Given the description of an element on the screen output the (x, y) to click on. 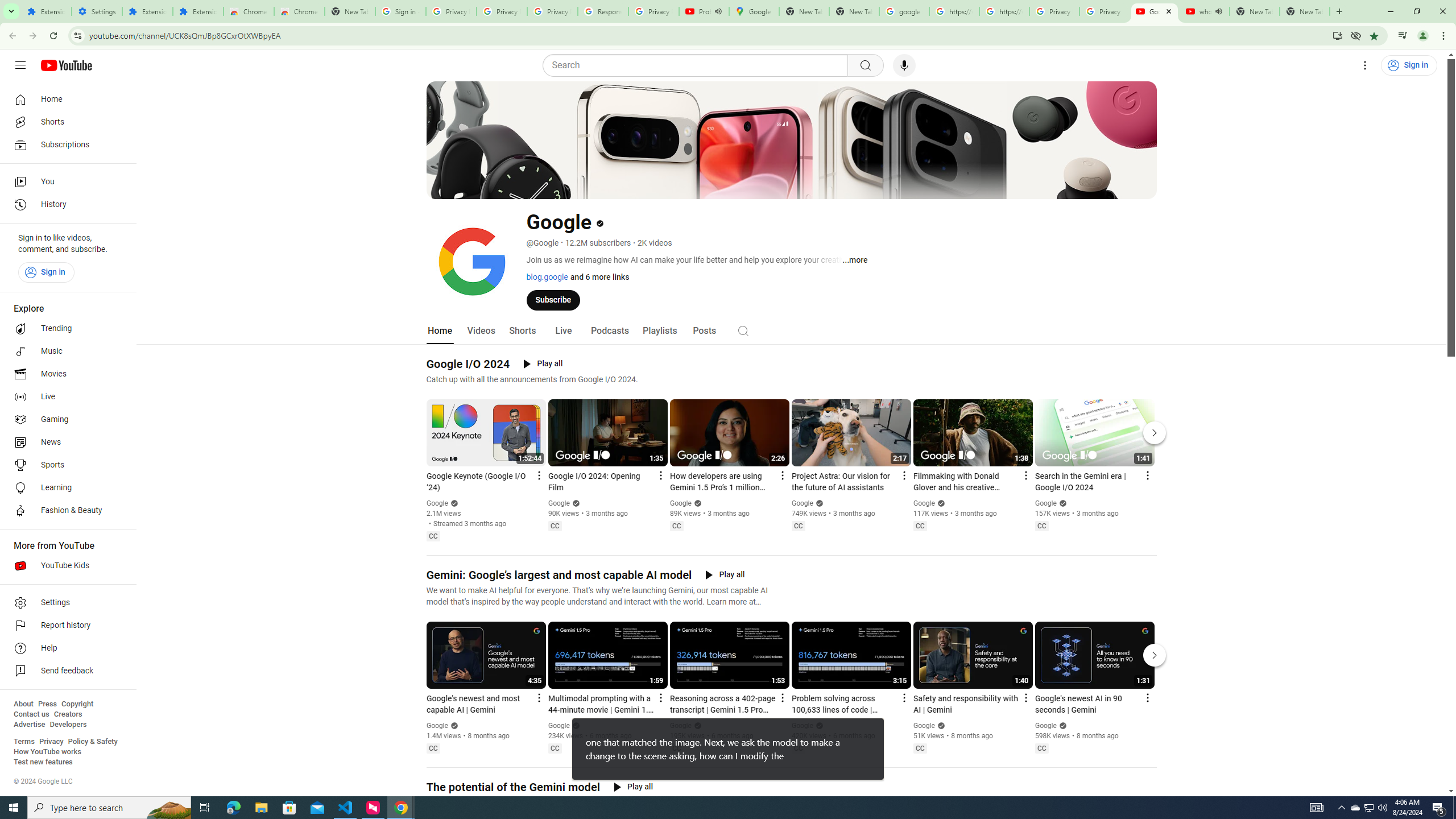
Address and search bar (707, 35)
Videos (481, 330)
Extensions (146, 11)
Google I/O 2024 (467, 363)
New Tab (1338, 11)
You (1422, 35)
Help (64, 648)
Closed captions (1041, 748)
Shorts (64, 121)
About (23, 703)
Restore (1416, 11)
